Given the description of an element on the screen output the (x, y) to click on. 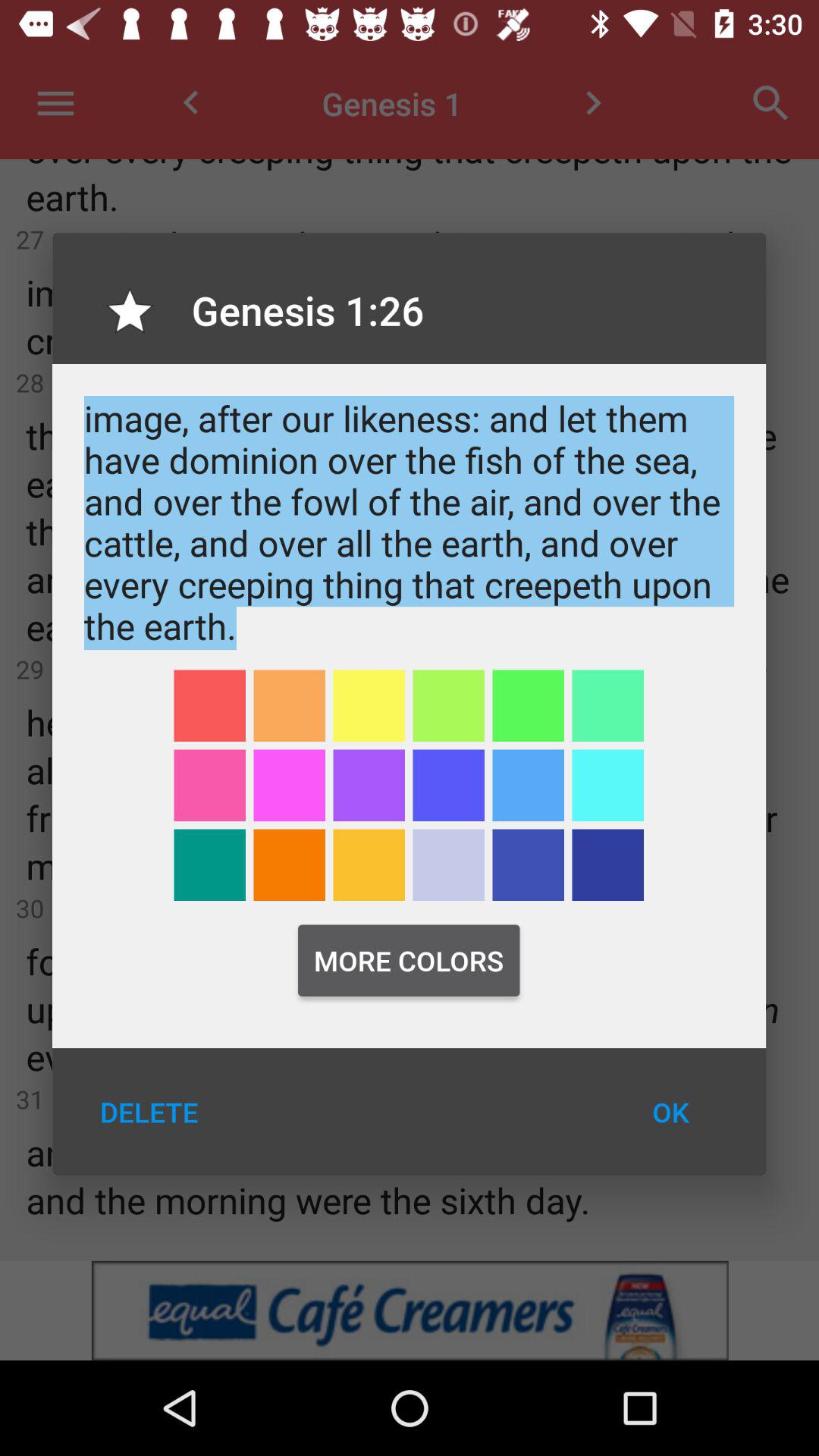
tap the icon next to the ok item (149, 1111)
